Given the description of an element on the screen output the (x, y) to click on. 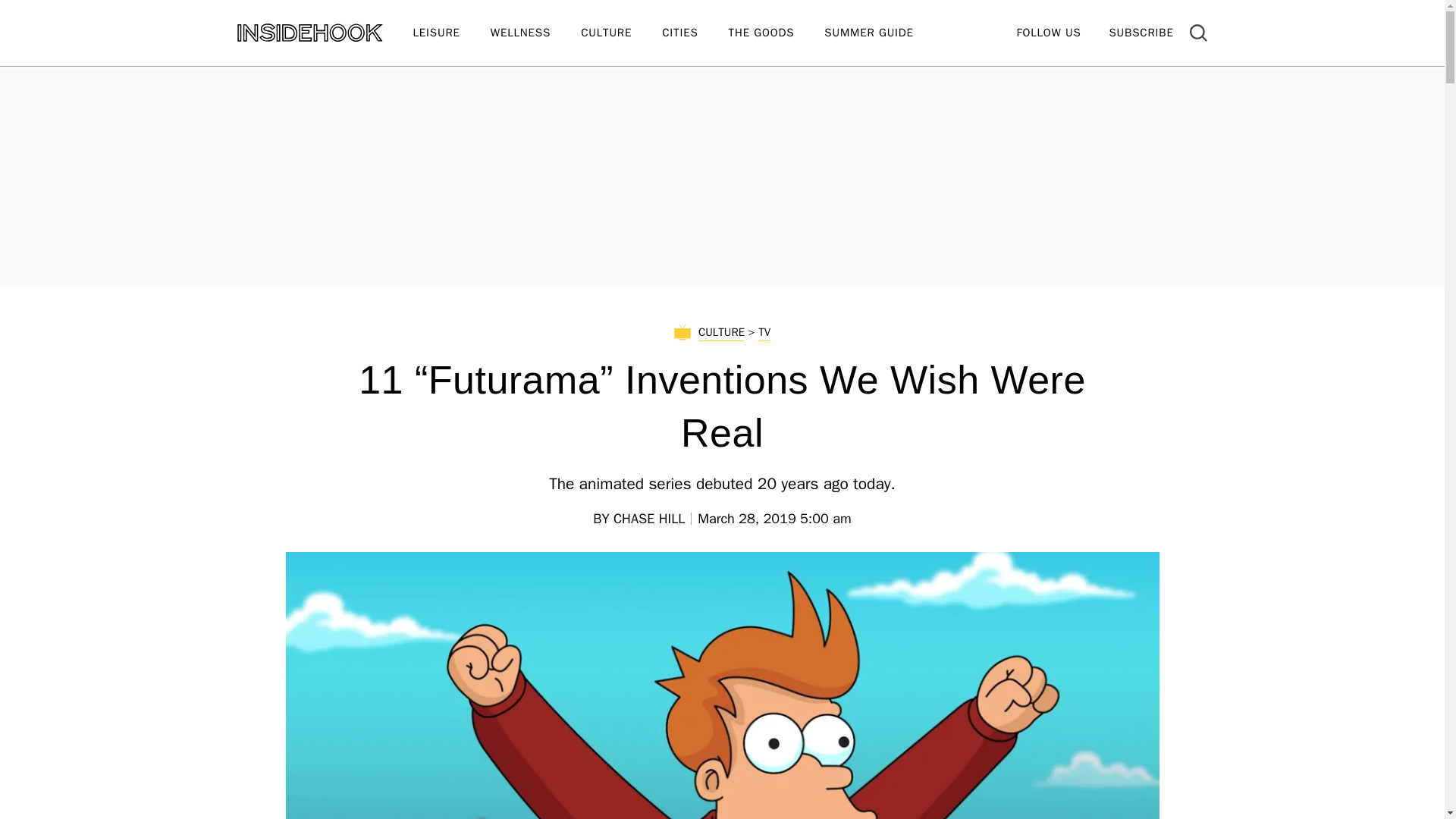
CULTURE (621, 32)
THE GOODS (777, 32)
SUBSCRIBE (1140, 32)
WELLNESS (535, 32)
CITIES (695, 32)
SUMMER GUIDE (883, 32)
LEISURE (450, 32)
FOLLOW US (1048, 32)
